Given the description of an element on the screen output the (x, y) to click on. 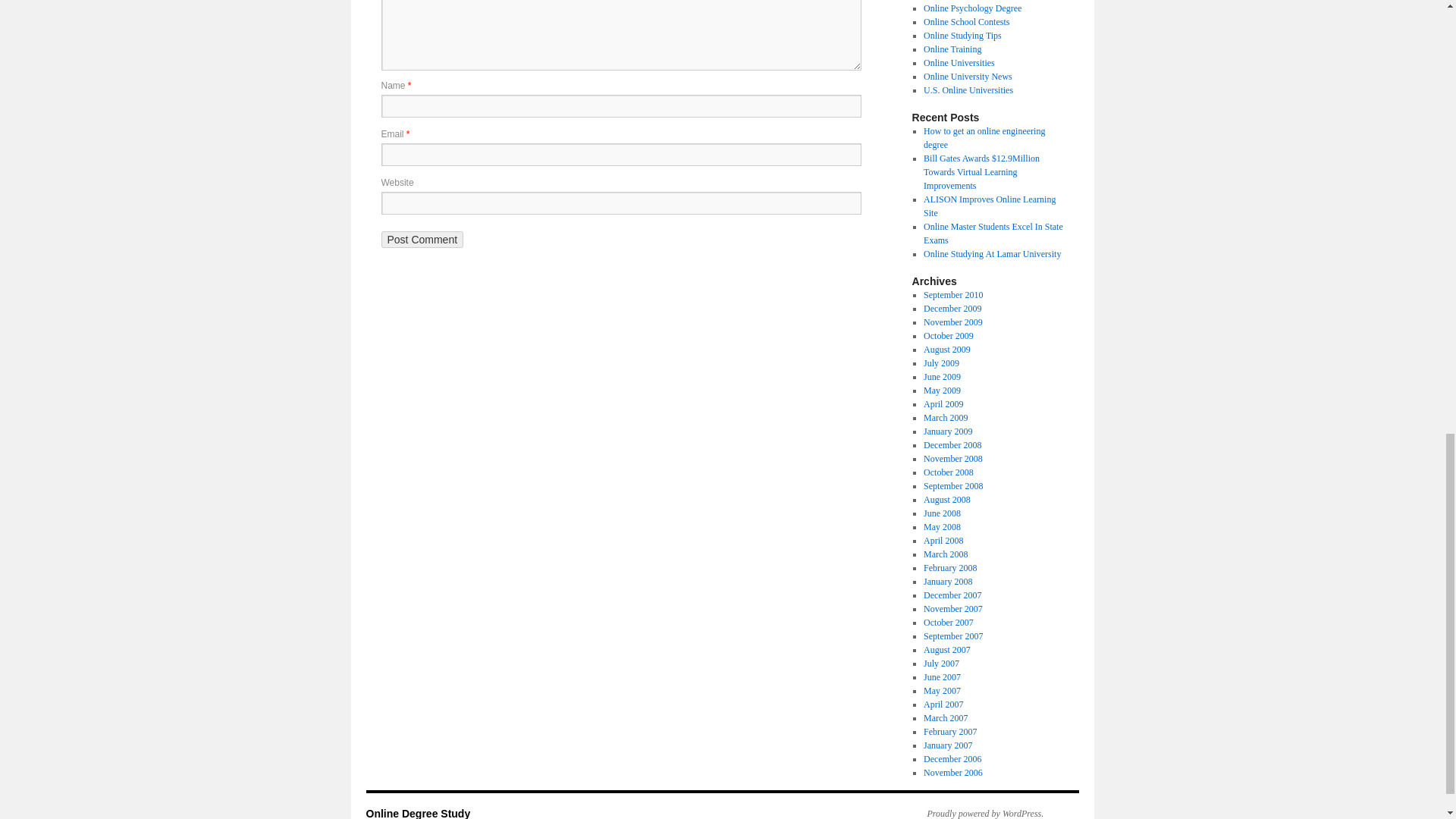
Post Comment (421, 239)
Post Comment (421, 239)
